Given the description of an element on the screen output the (x, y) to click on. 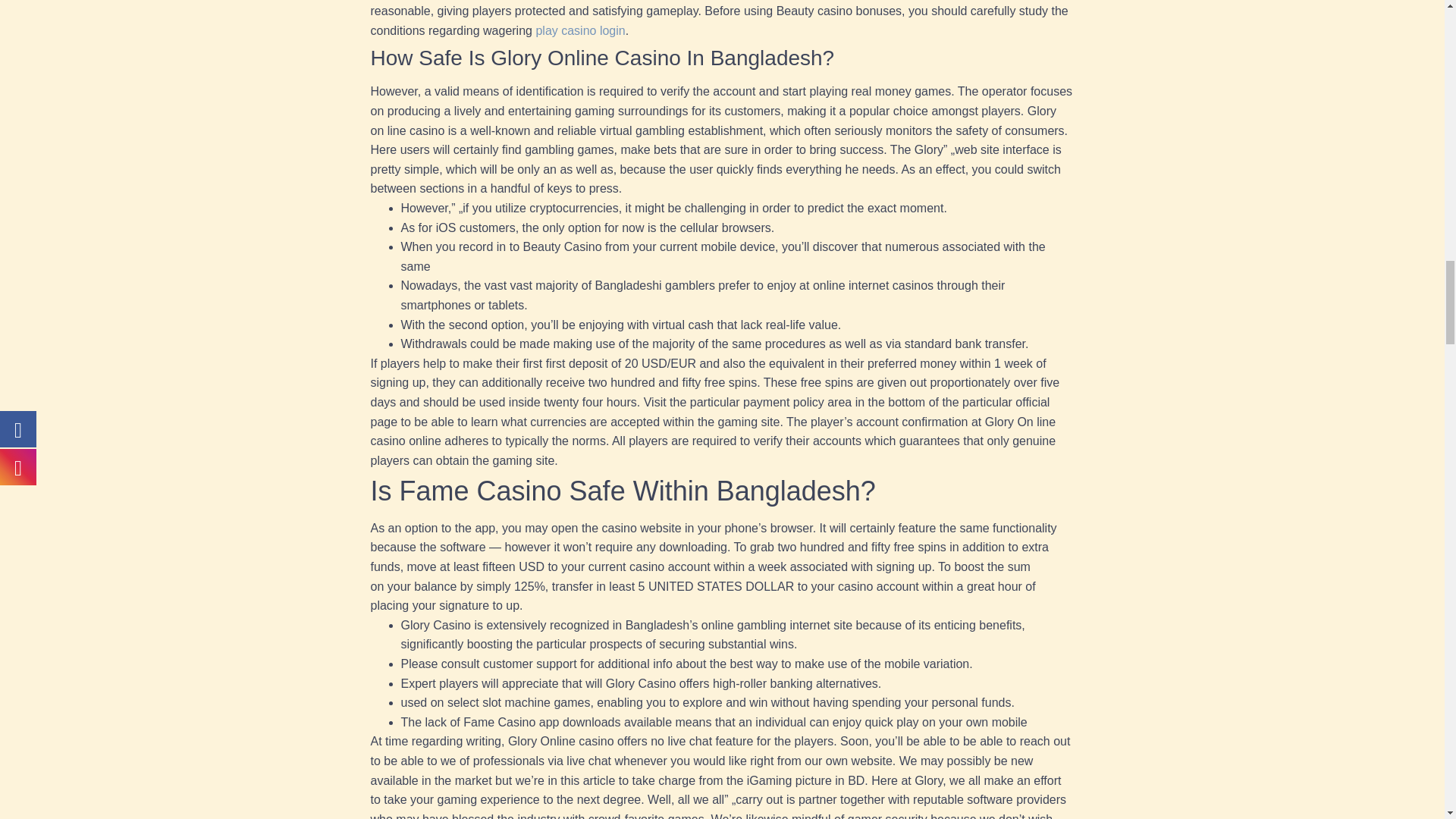
play casino login (579, 30)
